Given the description of an element on the screen output the (x, y) to click on. 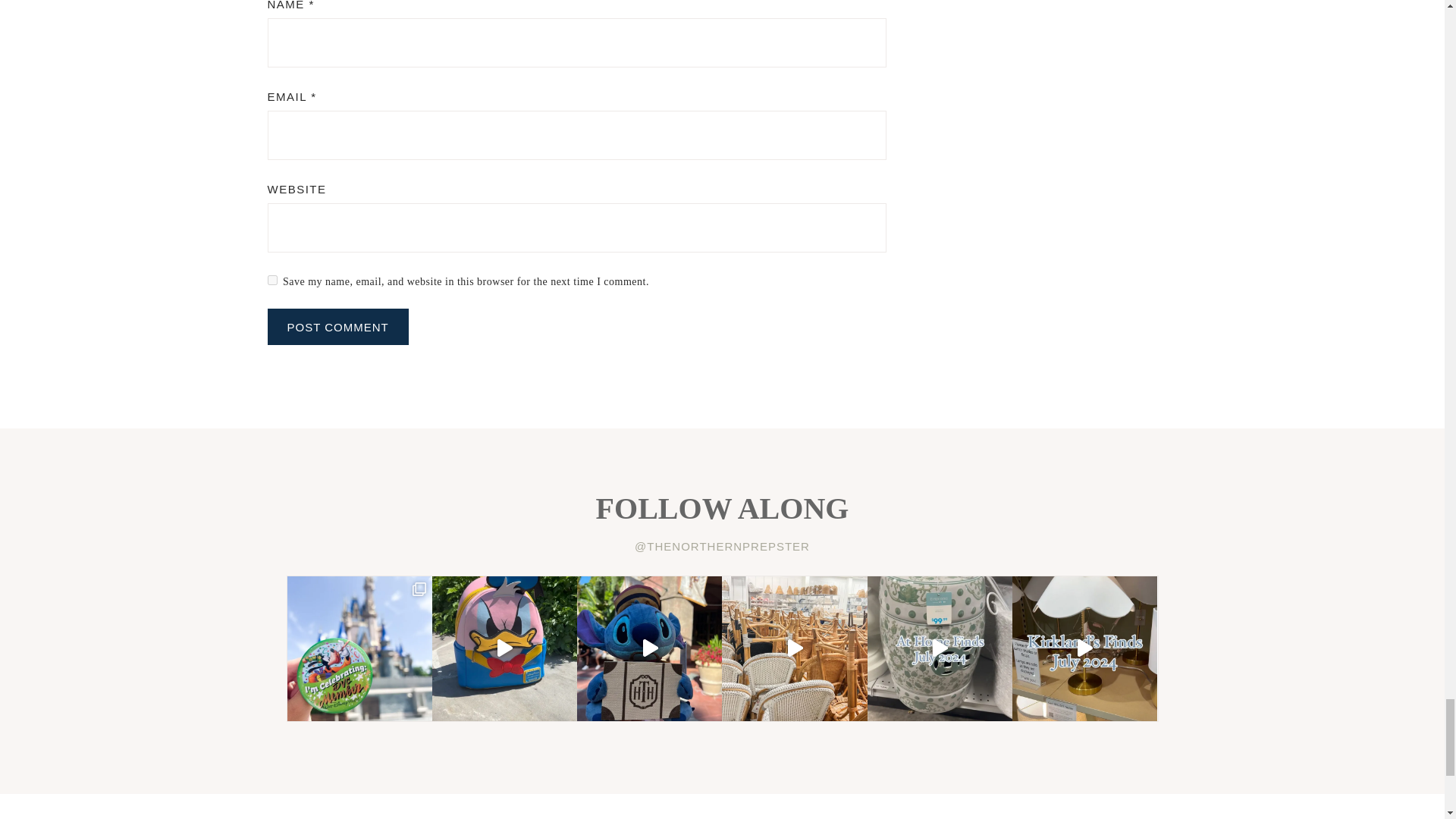
yes (271, 280)
Post Comment (336, 326)
